Given the description of an element on the screen output the (x, y) to click on. 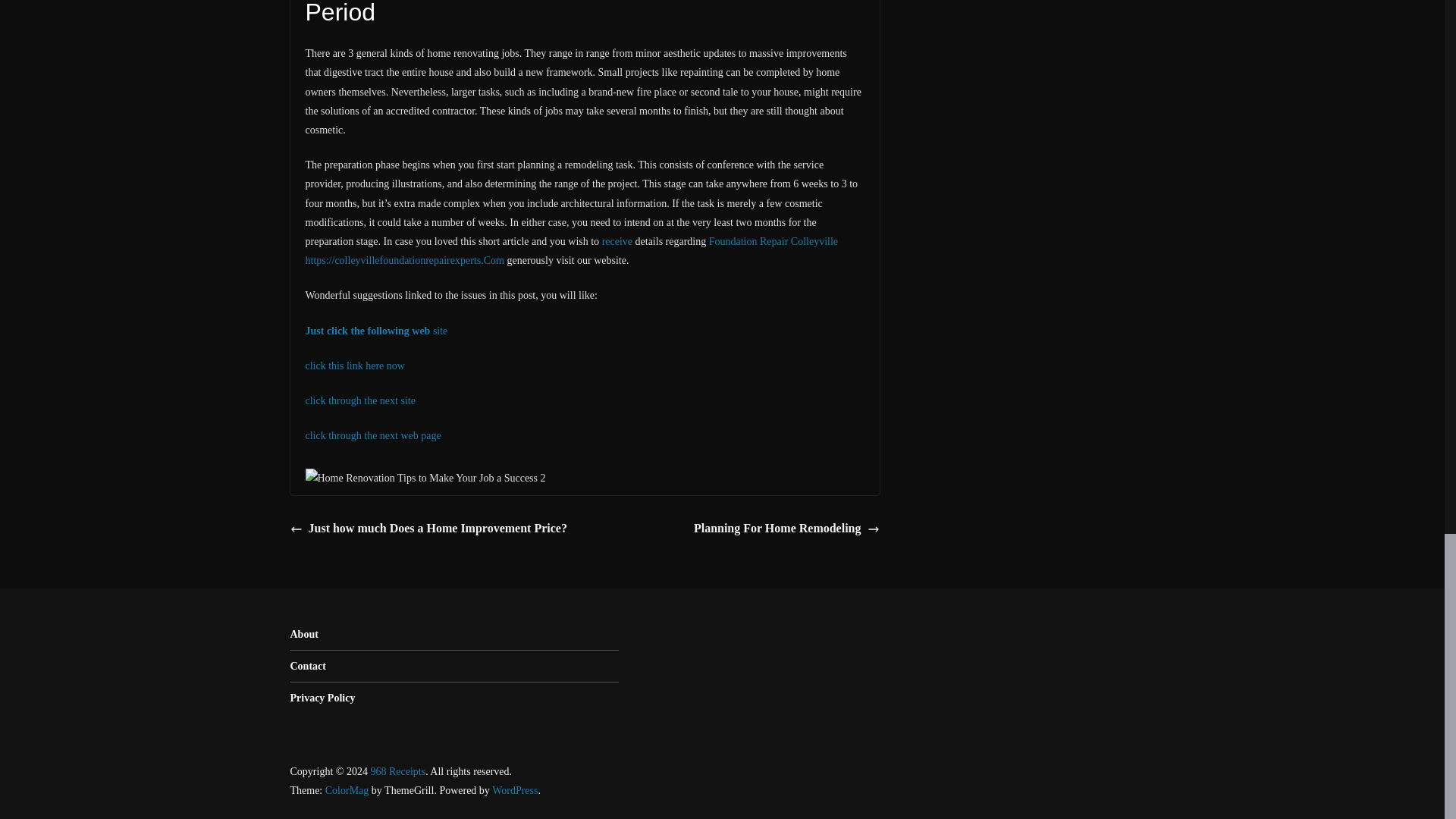
Just click the following web site (375, 330)
receive (616, 241)
click through the next web page (372, 435)
click through the next site (359, 400)
WordPress (514, 790)
Planning For Home Remodeling (786, 528)
Just how much Does a Home Improvement Price? (427, 528)
ColorMag (346, 790)
About (303, 633)
Privacy Policy (322, 697)
968 Receipts (397, 771)
click this link here now (354, 365)
968 Receipts (397, 771)
Contact (306, 665)
ColorMag (346, 790)
